Given the description of an element on the screen output the (x, y) to click on. 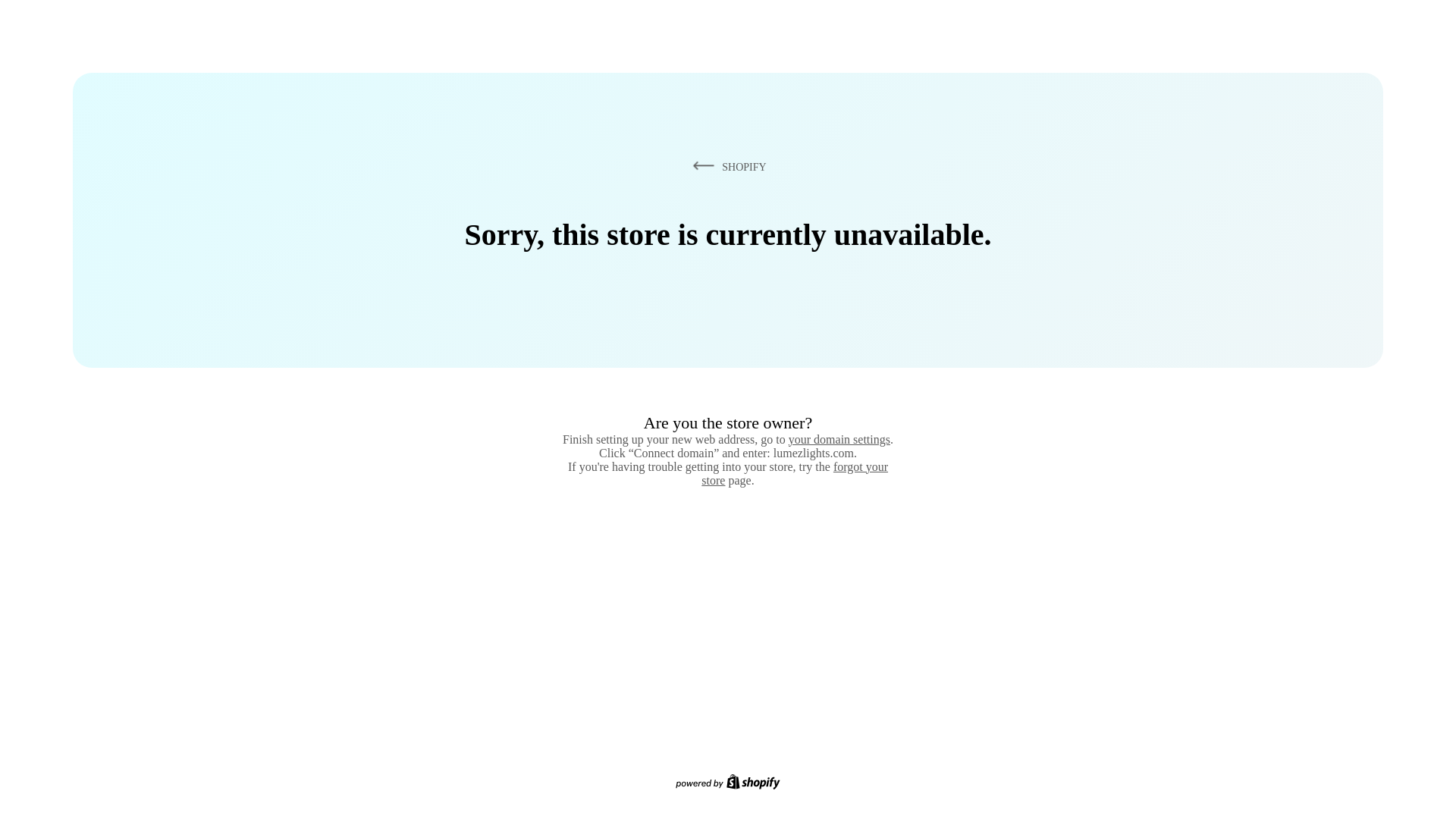
forgot your store (794, 473)
SHOPIFY (726, 166)
your domain settings (839, 439)
